Given the description of an element on the screen output the (x, y) to click on. 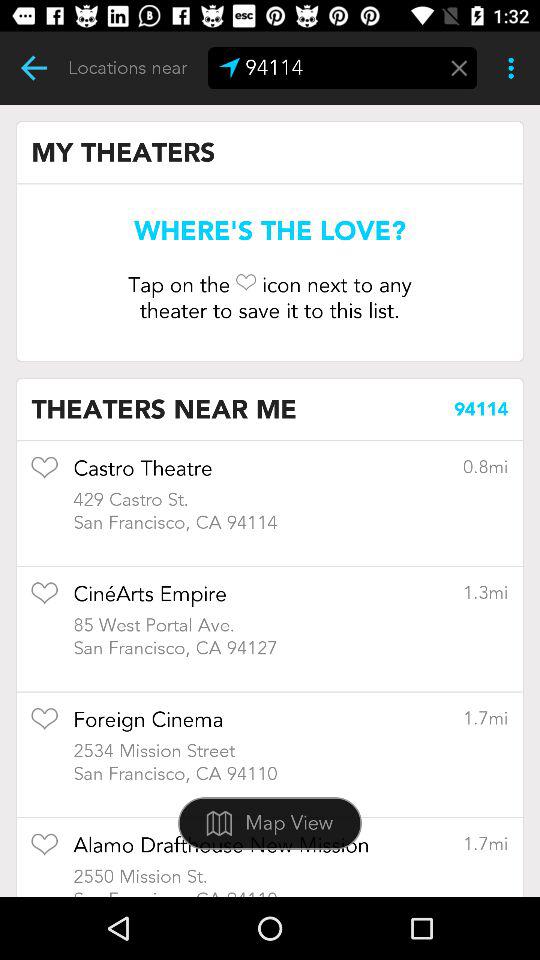
go back (34, 67)
